Given the description of an element on the screen output the (x, y) to click on. 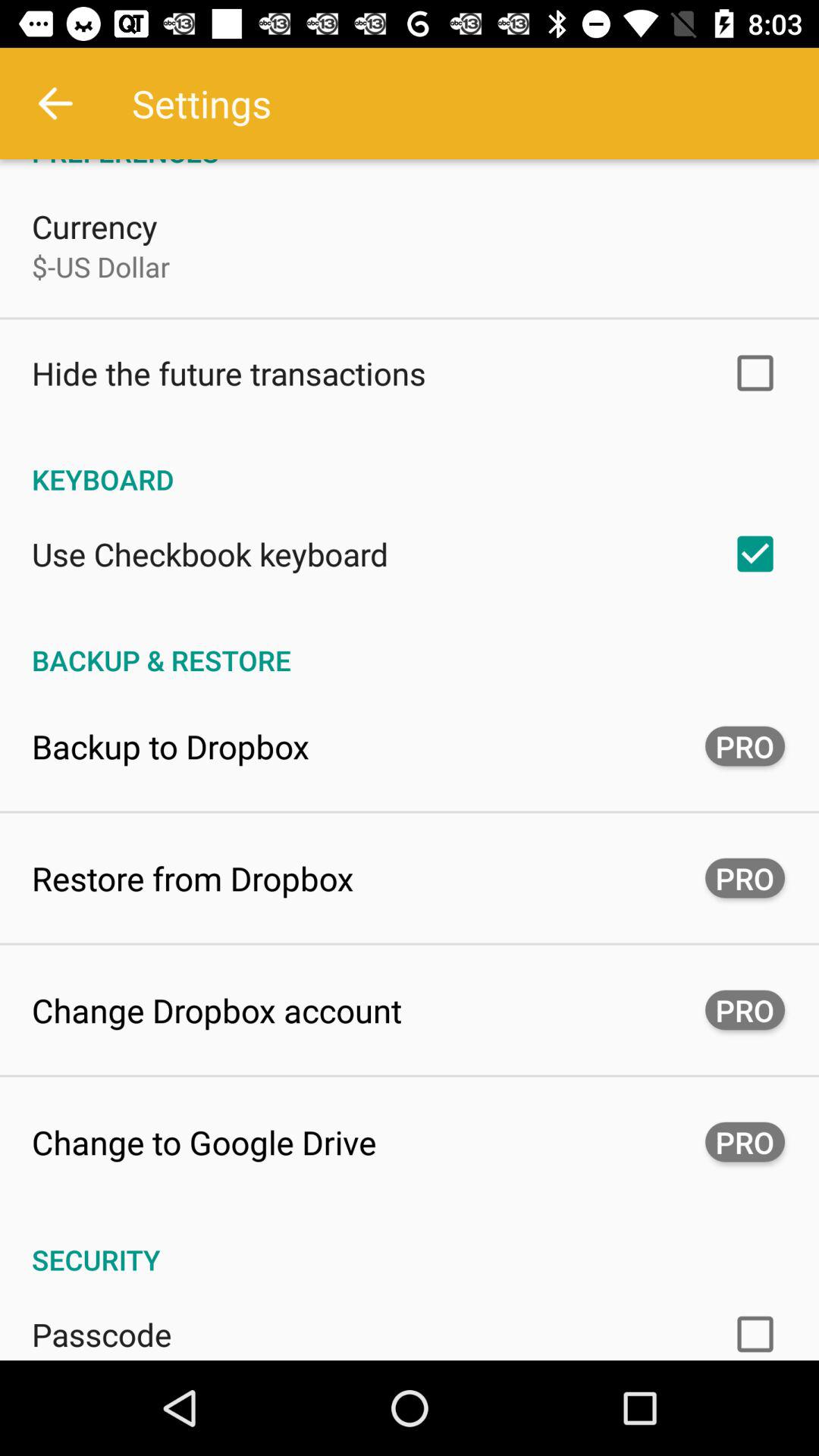
select the passcode icon (101, 1333)
